Given the description of an element on the screen output the (x, y) to click on. 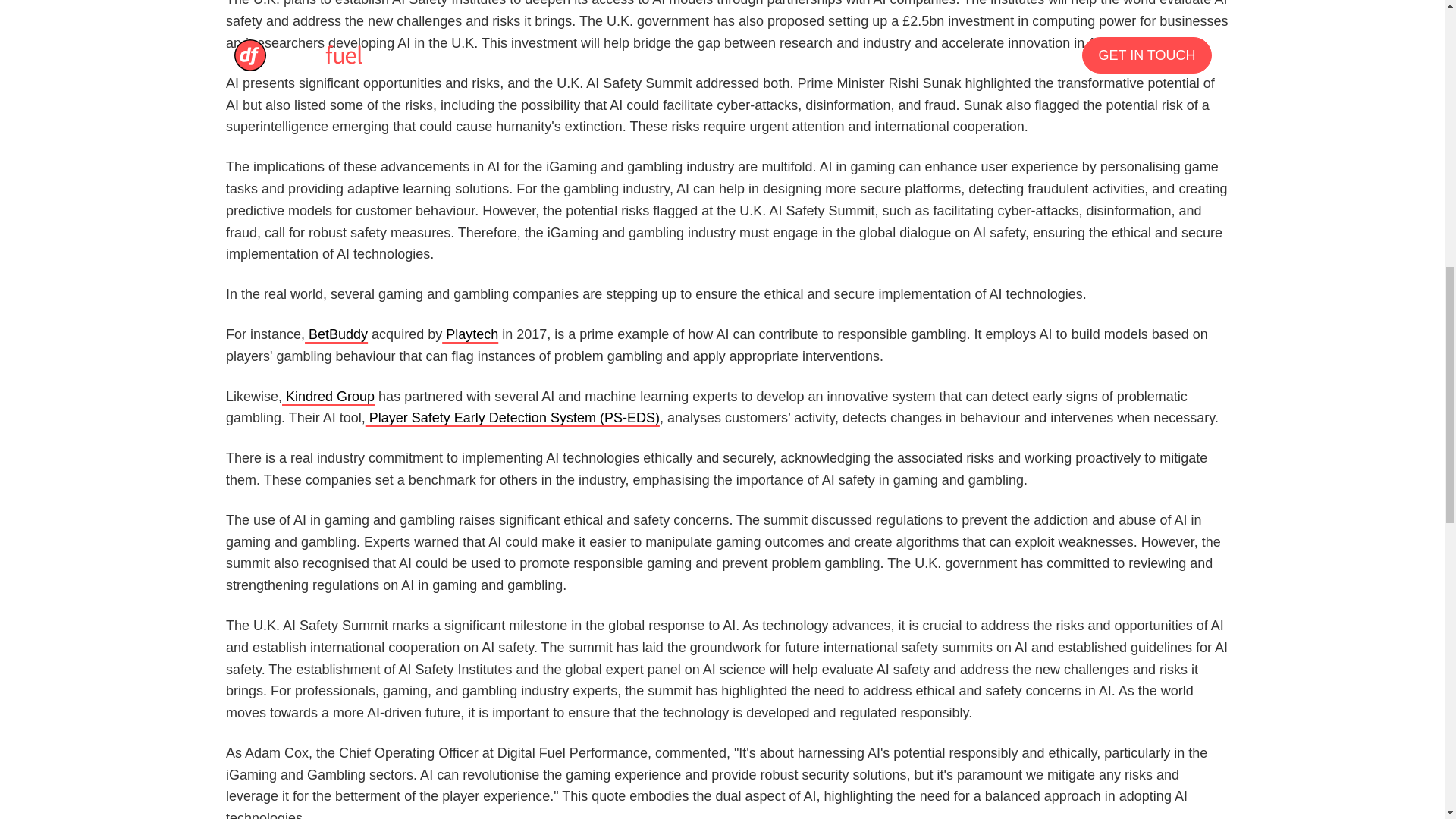
Playtech (469, 334)
BetBuddy (336, 334)
Kindred Group (328, 396)
